Given the description of an element on the screen output the (x, y) to click on. 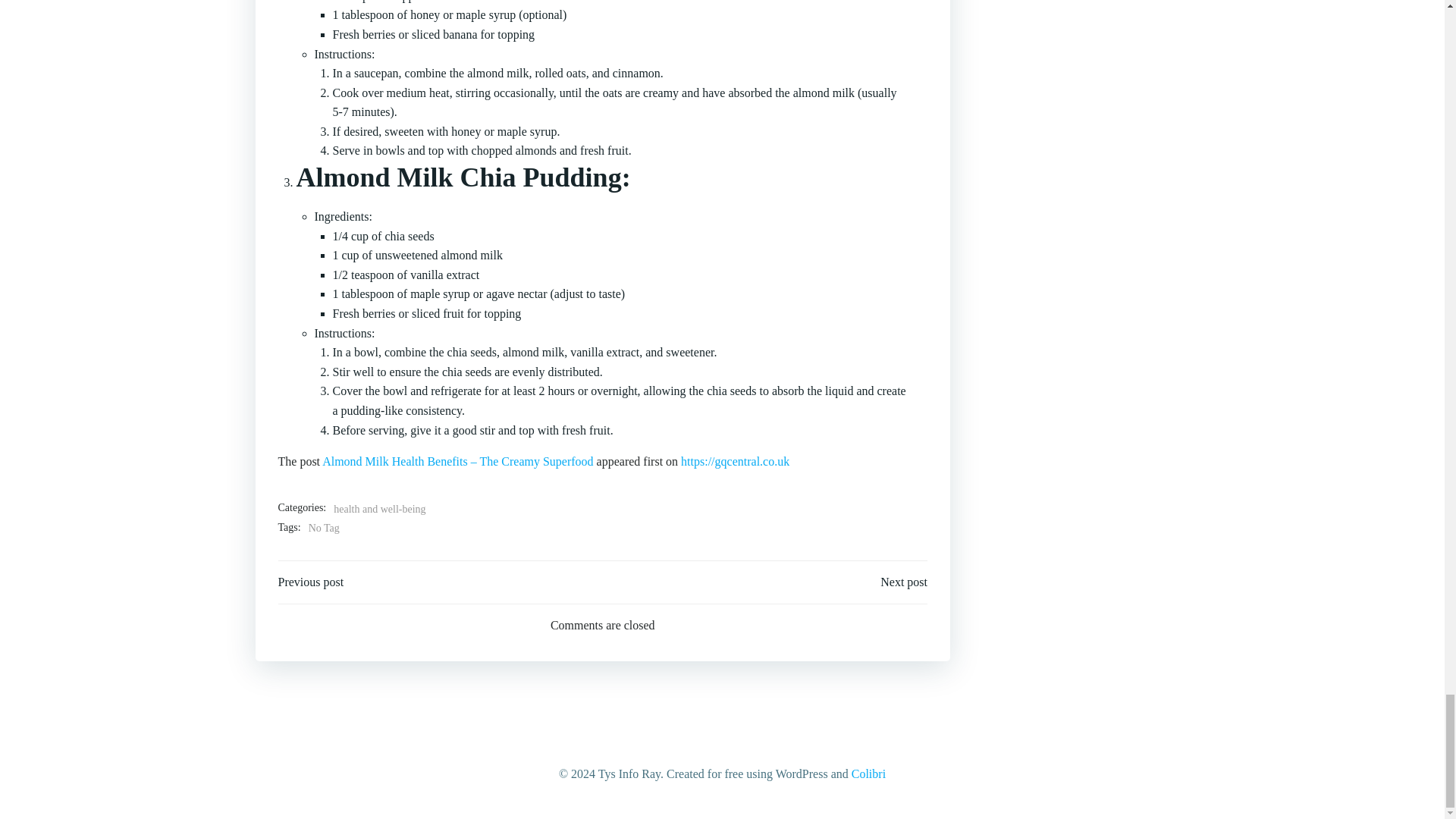
health and well-being (379, 509)
